Given the description of an element on the screen output the (x, y) to click on. 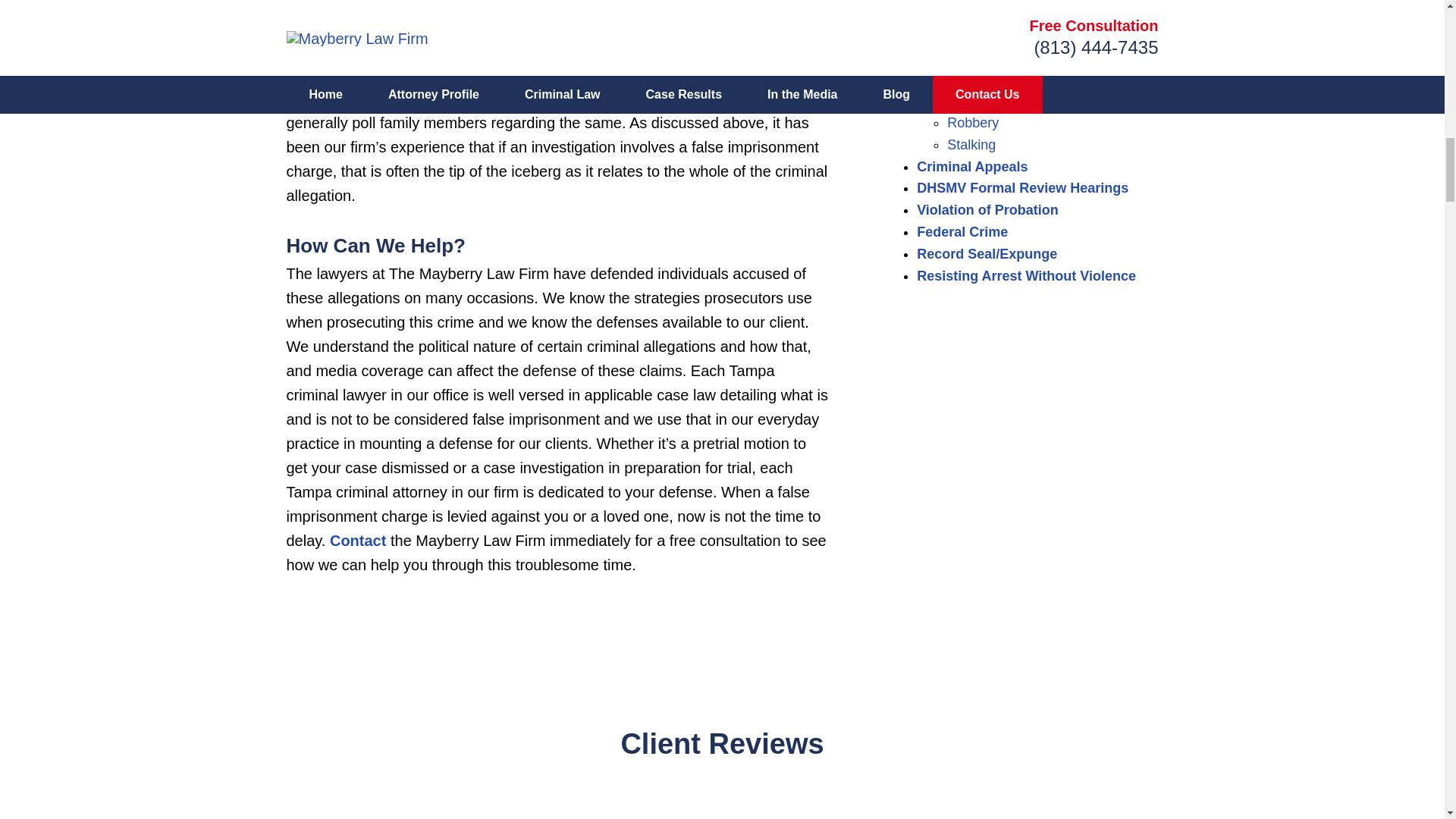
Contact (357, 540)
